Given the description of an element on the screen output the (x, y) to click on. 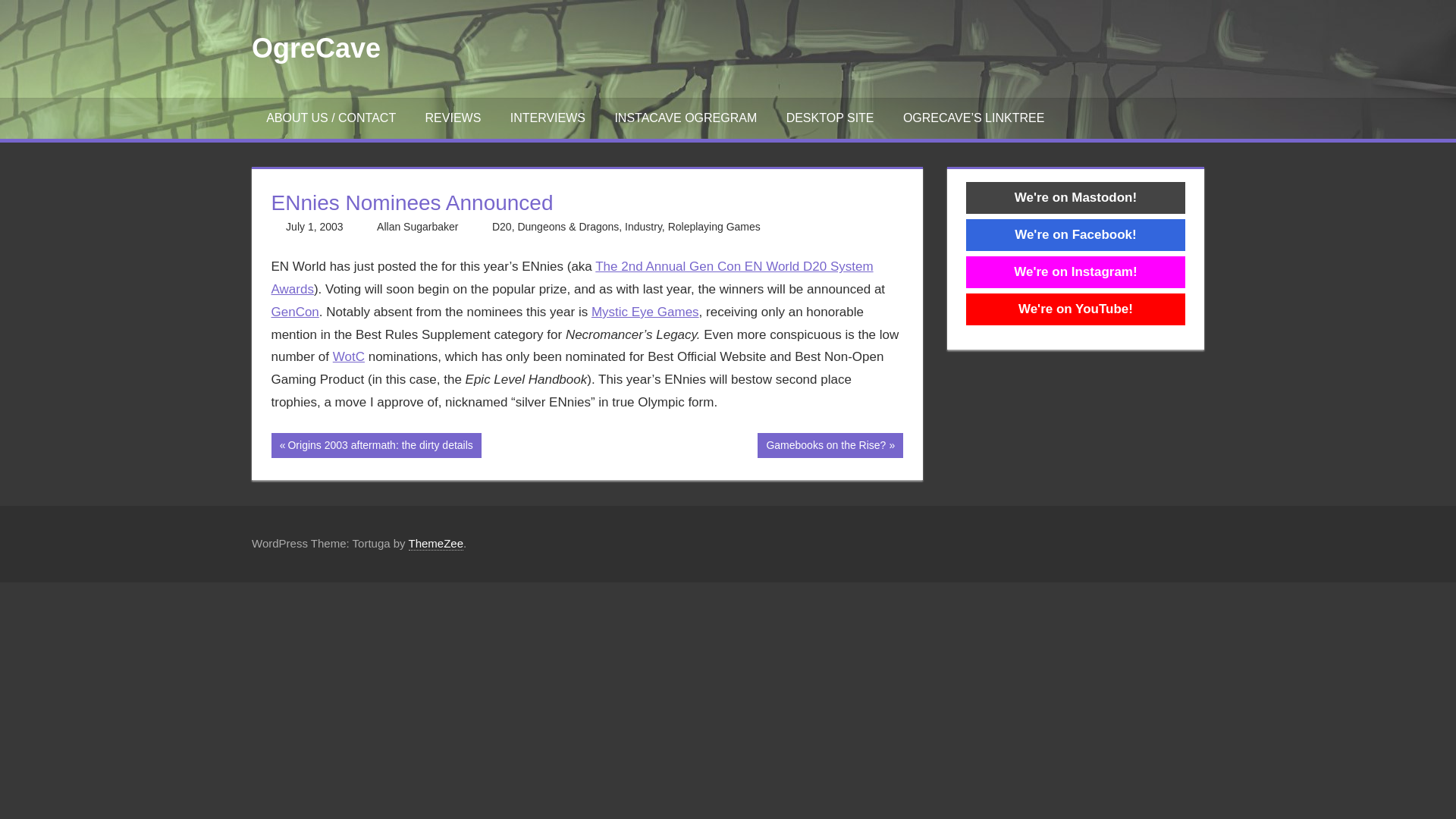
INSTACAVE OGREGRAM (375, 445)
Allan Sugarbaker (685, 117)
July 1, 2003 (417, 226)
WotC (829, 445)
We're on Facebook! (314, 226)
REVIEWS (349, 356)
Mystic Eye Games (1075, 234)
We're on YouTube! (452, 117)
View all posts by Allan Sugarbaker (644, 311)
Roleplaying Games (1074, 309)
Industry (417, 226)
11:07 am (714, 226)
The 2nd Annual Gen Con EN World D20 System Awards (643, 226)
